Given the description of an element on the screen output the (x, y) to click on. 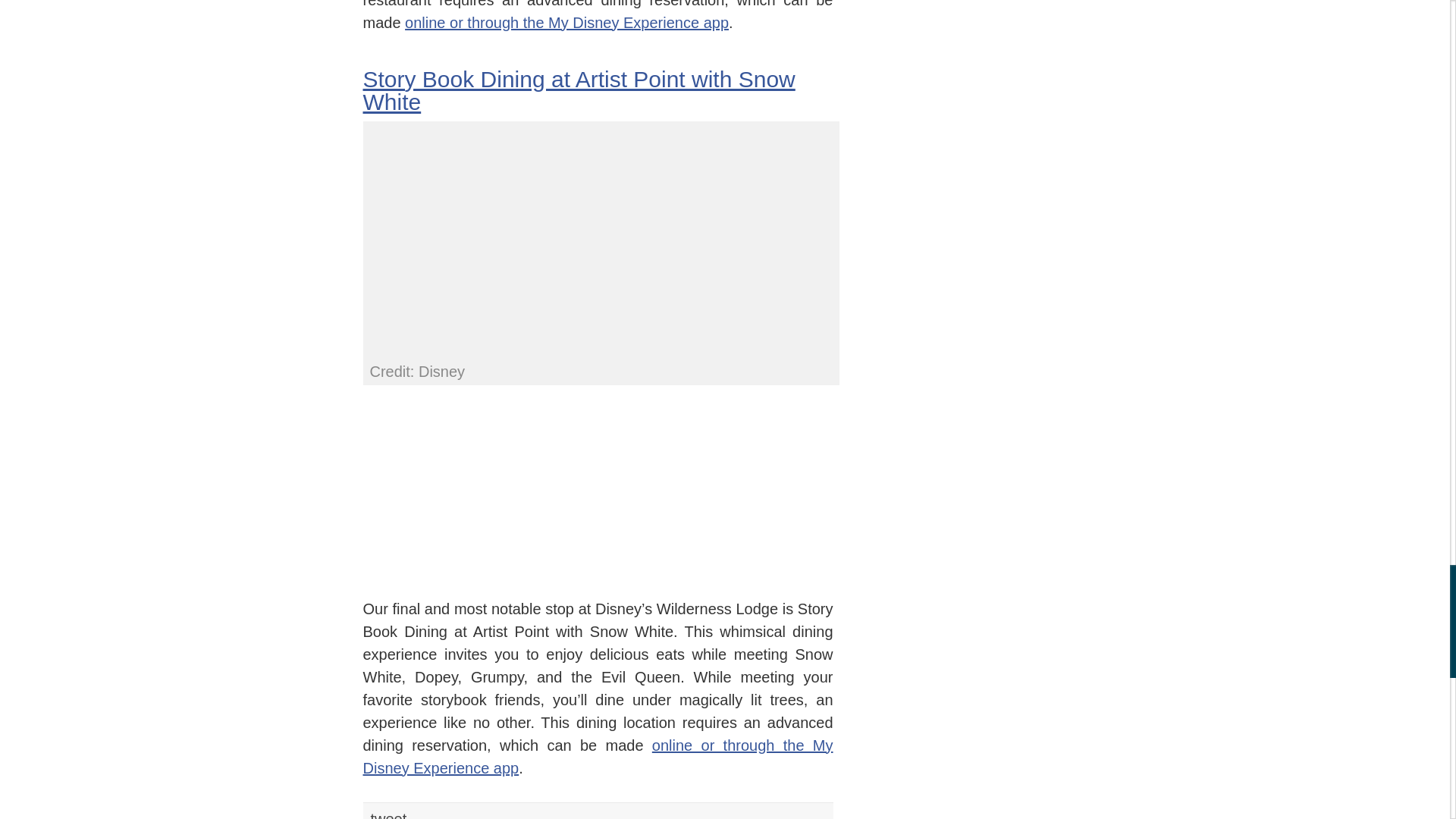
tweet (387, 814)
online or through the My Disney Experience app (597, 756)
Pin It (563, 814)
online or through the My Disney Experience app (566, 21)
Story Book Dining at Artist Point with Snow White (578, 90)
